Given the description of an element on the screen output the (x, y) to click on. 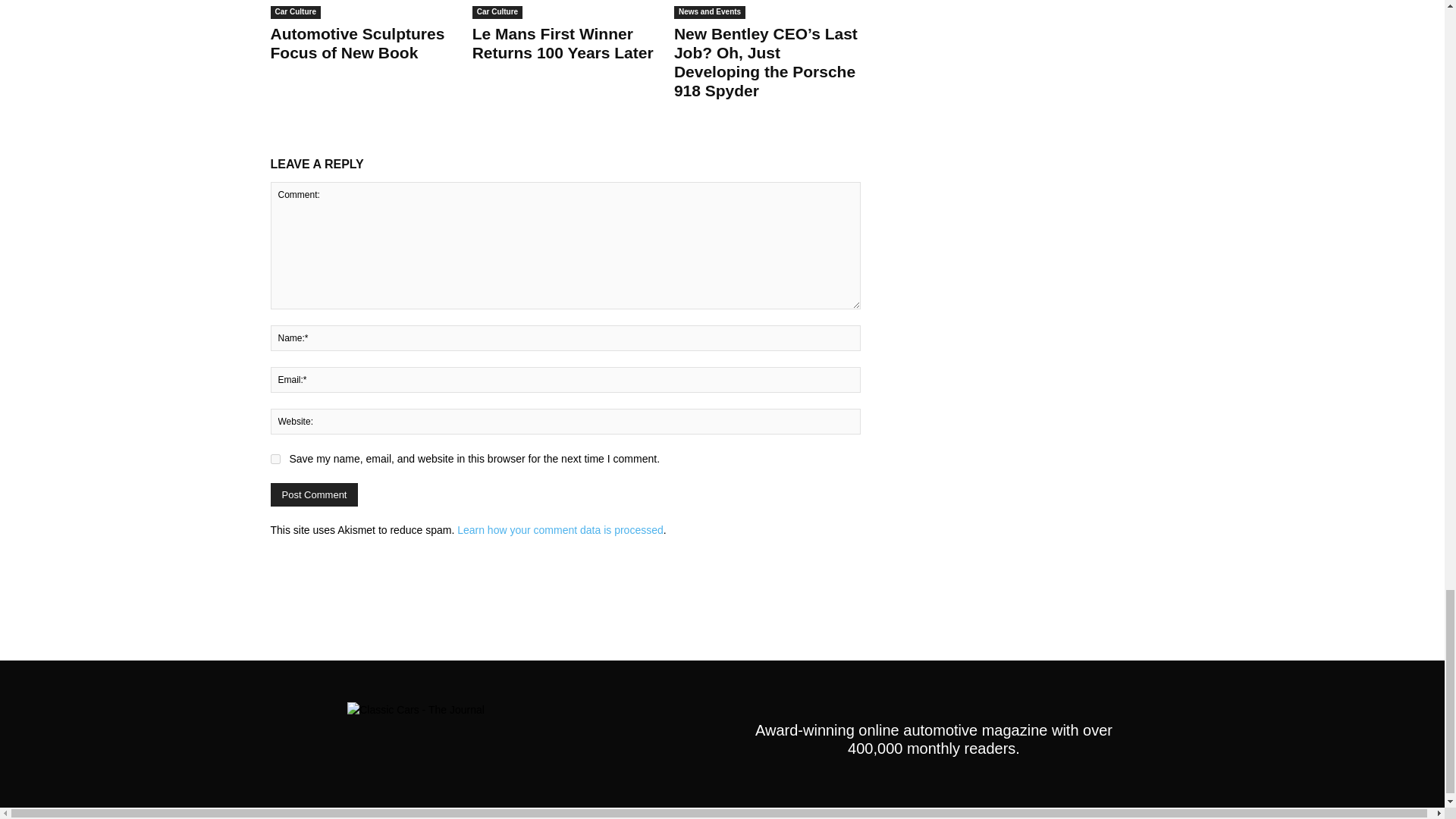
yes (274, 459)
Automotive Sculptures Focus of New Book (363, 9)
Le Mans First Winner Returns 100 Years Later (565, 9)
Post Comment (313, 494)
Automotive Sculptures Focus of New Book (356, 43)
